Given the description of an element on the screen output the (x, y) to click on. 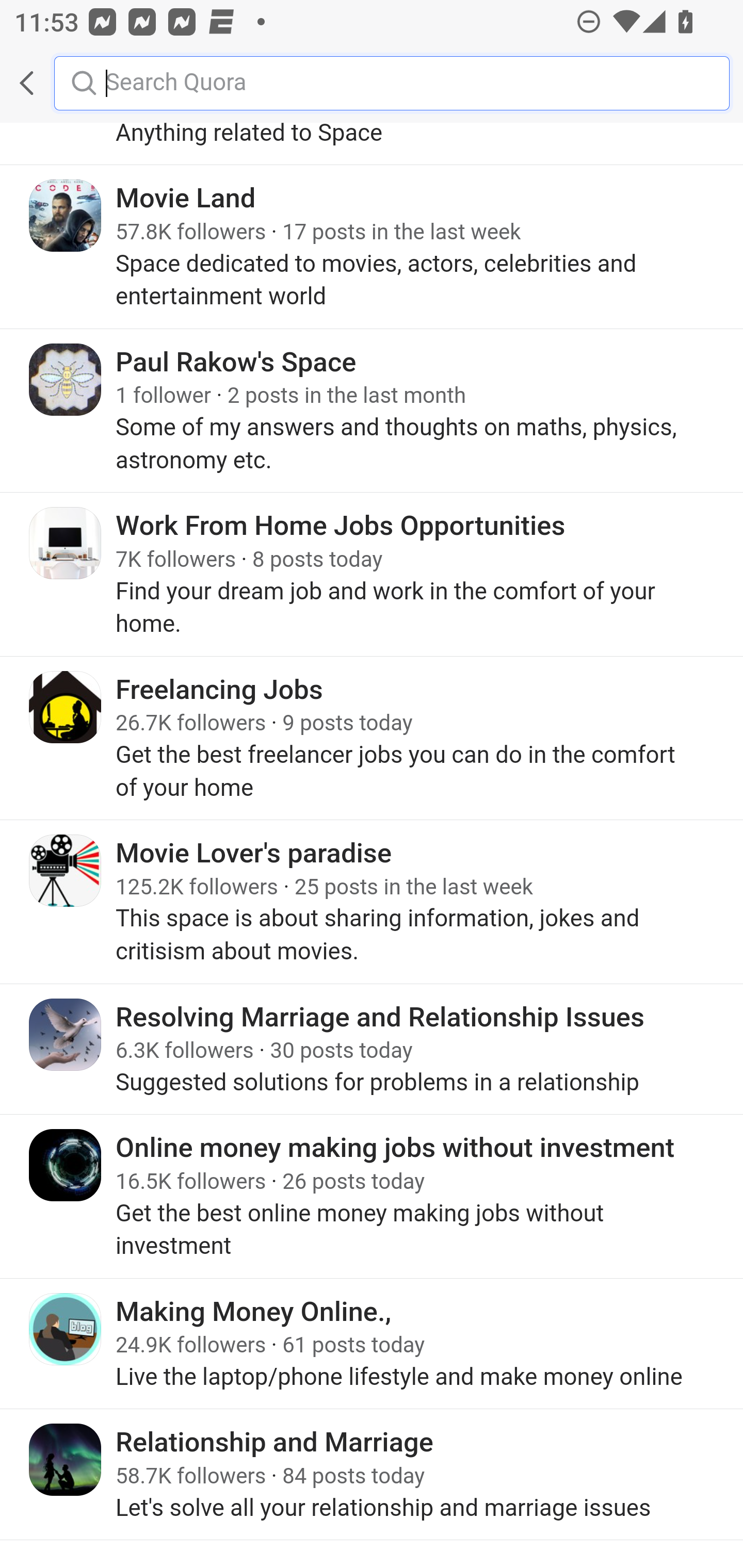
Icon for Space (65, 85)
Icon for Movie Land (65, 216)
Icon for Paul Rakow's Space (65, 380)
Icon for Work From Home Jobs Opportunities (65, 543)
Icon for Freelancing Jobs (65, 706)
Icon for Movie Lover's paradise (65, 870)
Icon for Making Money Online., (65, 1328)
Icon for Relationship and Marriage (65, 1461)
